Given the description of an element on the screen output the (x, y) to click on. 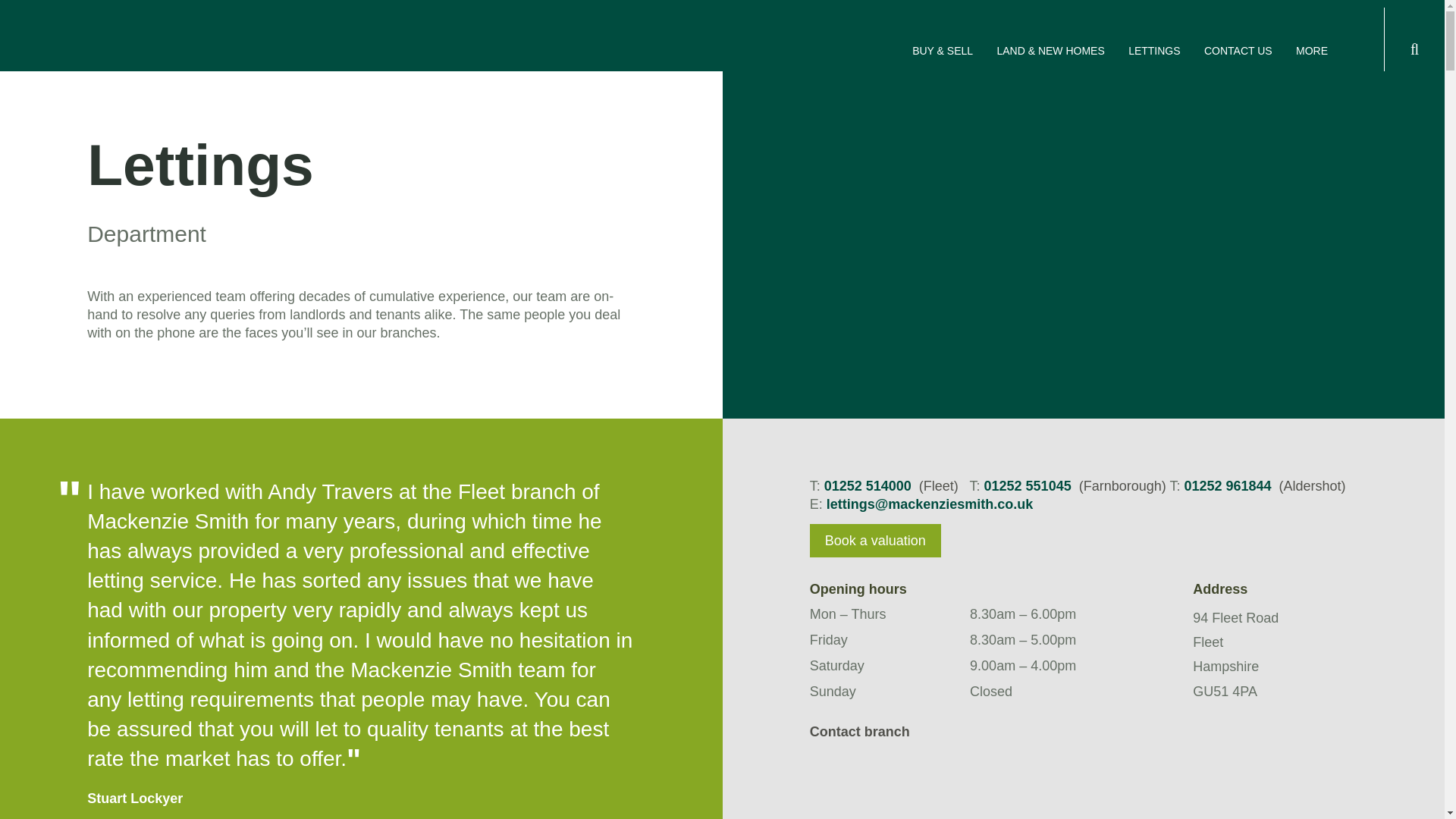
Mackenzie Smith (128, 50)
LETTINGS (1154, 50)
